Given the description of an element on the screen output the (x, y) to click on. 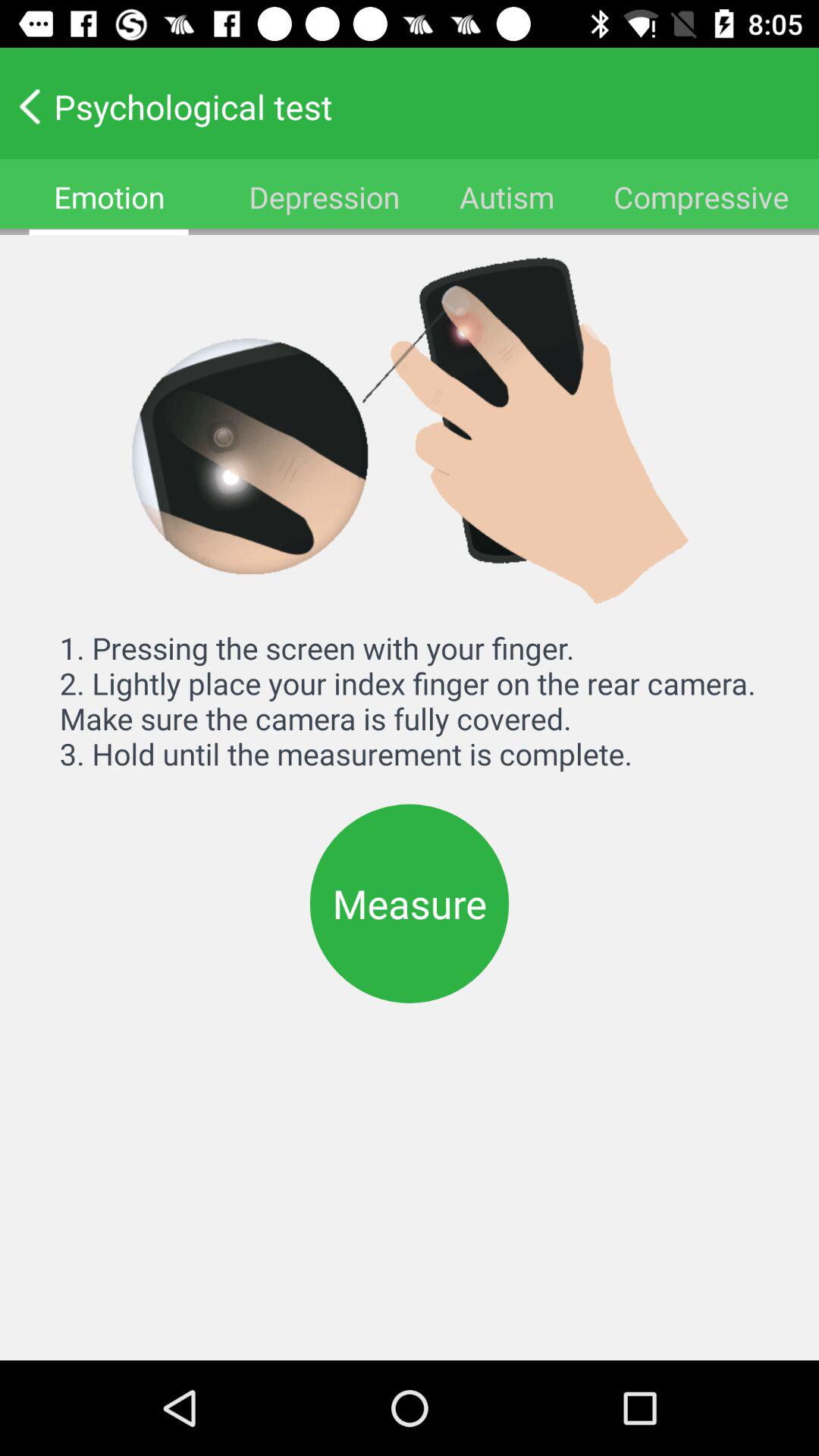
jump until the compressive (701, 196)
